Given the description of an element on the screen output the (x, y) to click on. 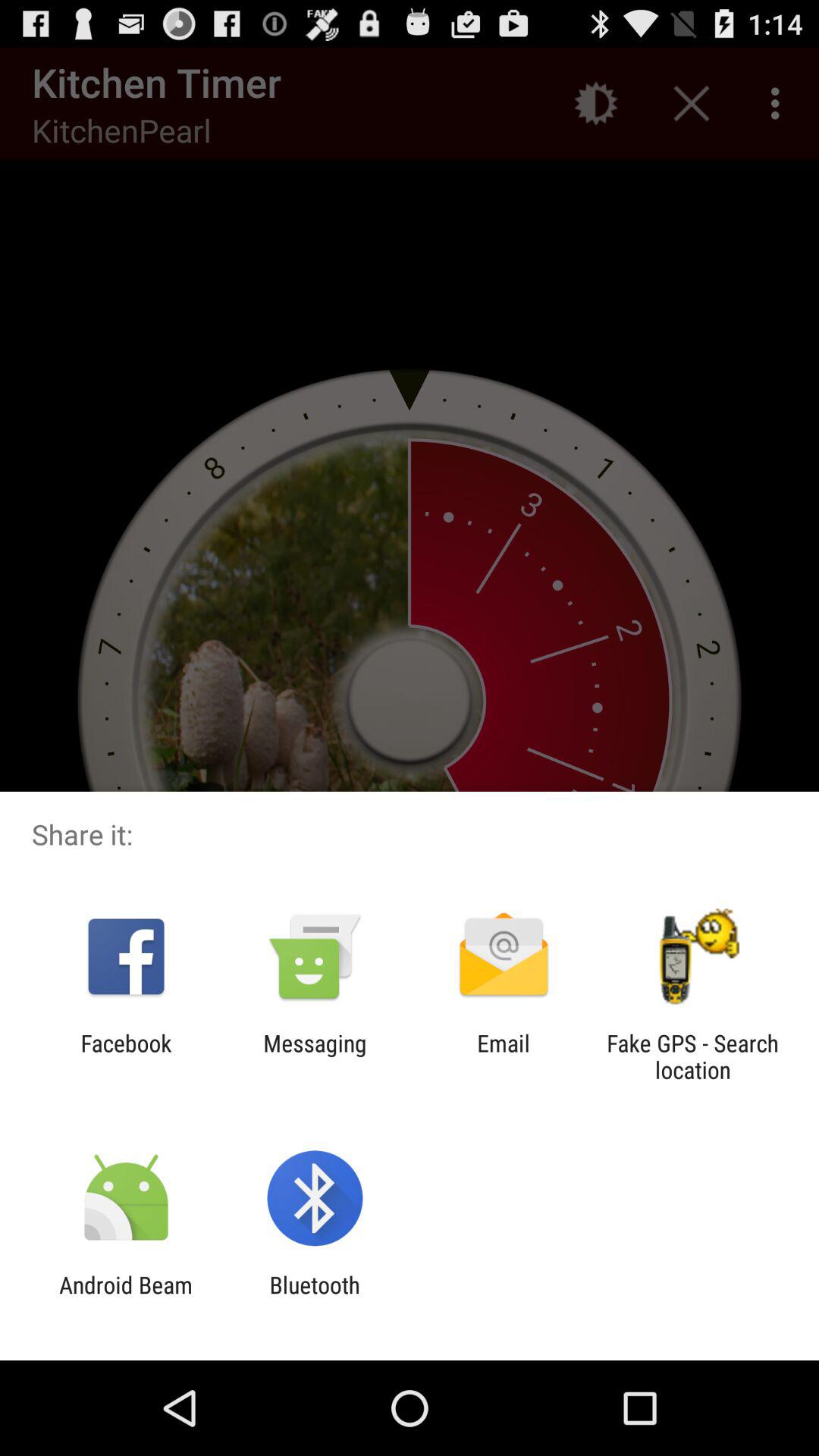
swipe to the messaging (314, 1056)
